Given the description of an element on the screen output the (x, y) to click on. 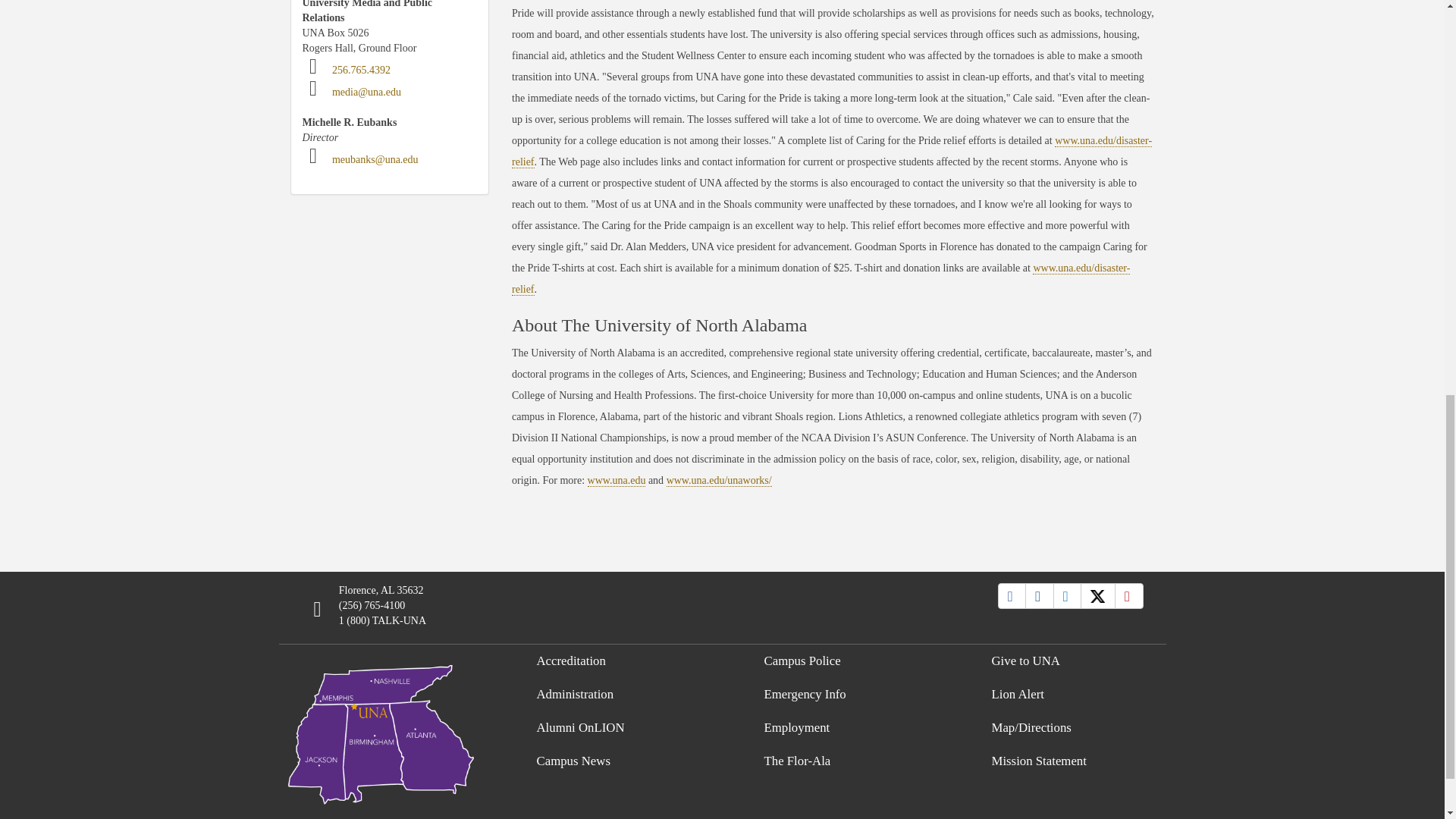
View Campus Maps (381, 730)
